Given the description of an element on the screen output the (x, y) to click on. 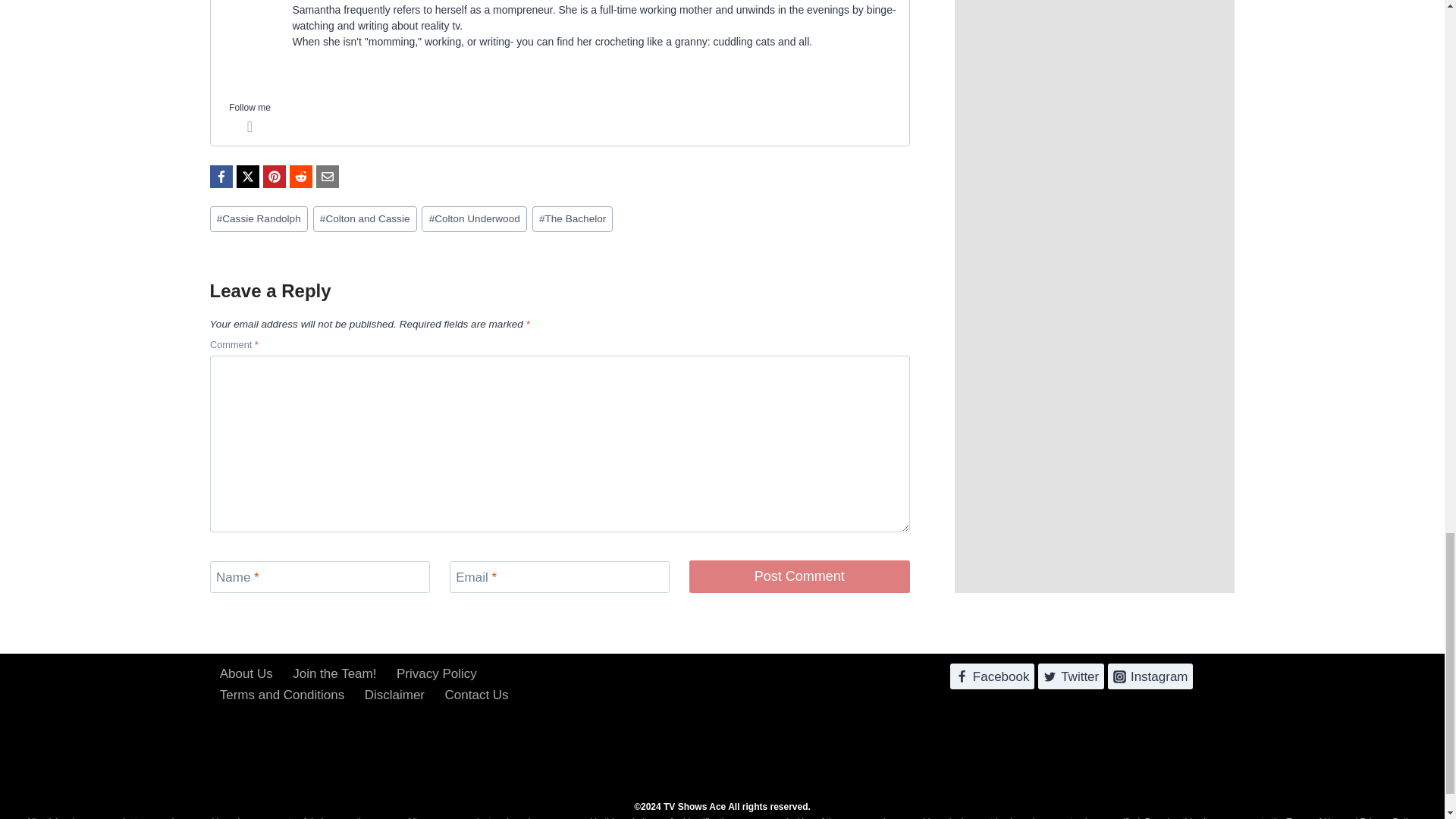
Post Comment (799, 576)
Twitter (250, 126)
The Bachelor (572, 219)
Cassie Randolph (258, 219)
Colton Underwood (473, 219)
Colton and Cassie (364, 219)
